Given the description of an element on the screen output the (x, y) to click on. 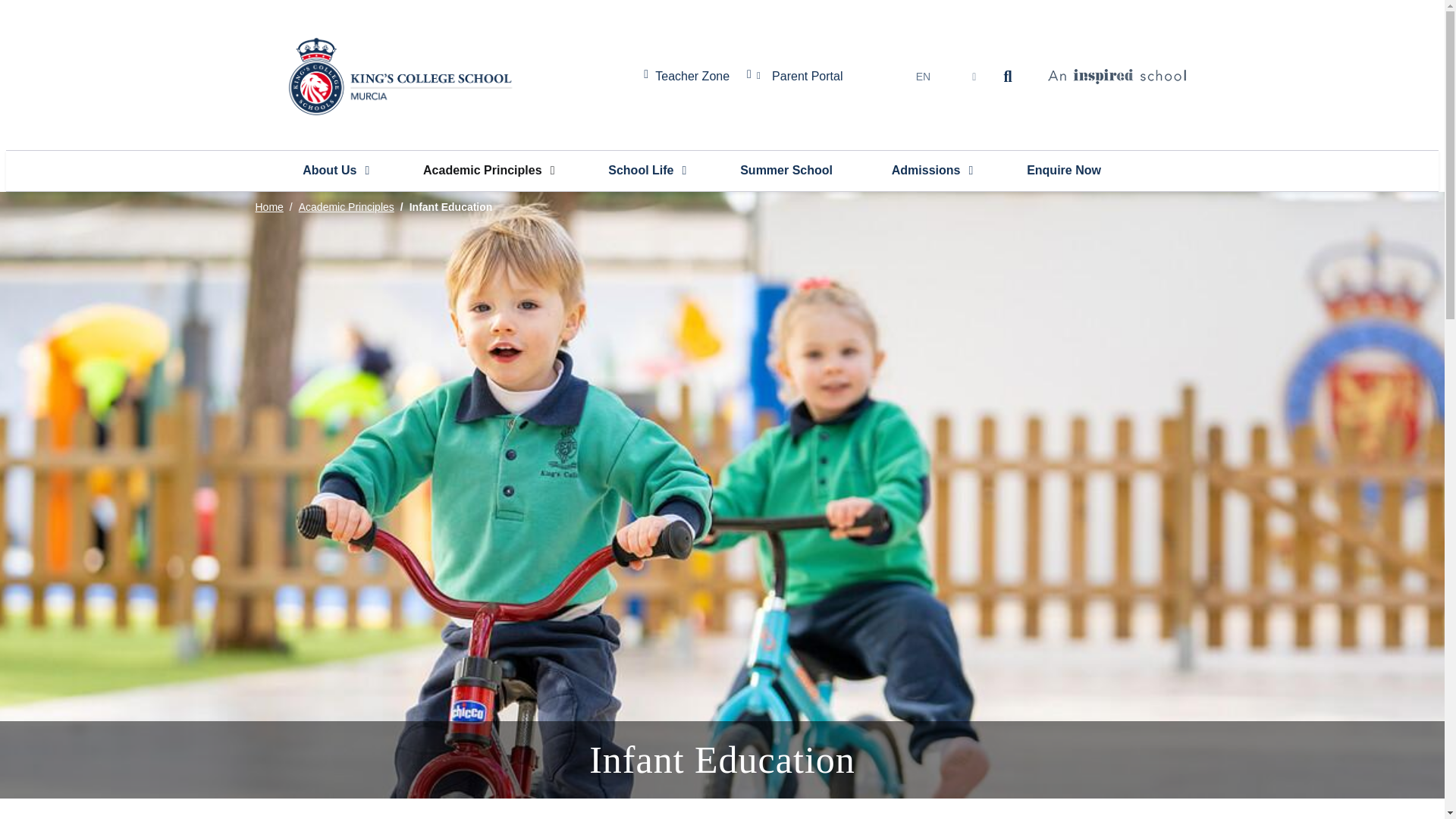
Academic Principles (486, 170)
Teacher Zone (692, 76)
Search Icon (1010, 76)
Parent Portal (808, 76)
School Life (645, 170)
EN (922, 76)
Skip to main content (721, 3)
King's College Murcia (397, 76)
About Us (334, 170)
